Given the description of an element on the screen output the (x, y) to click on. 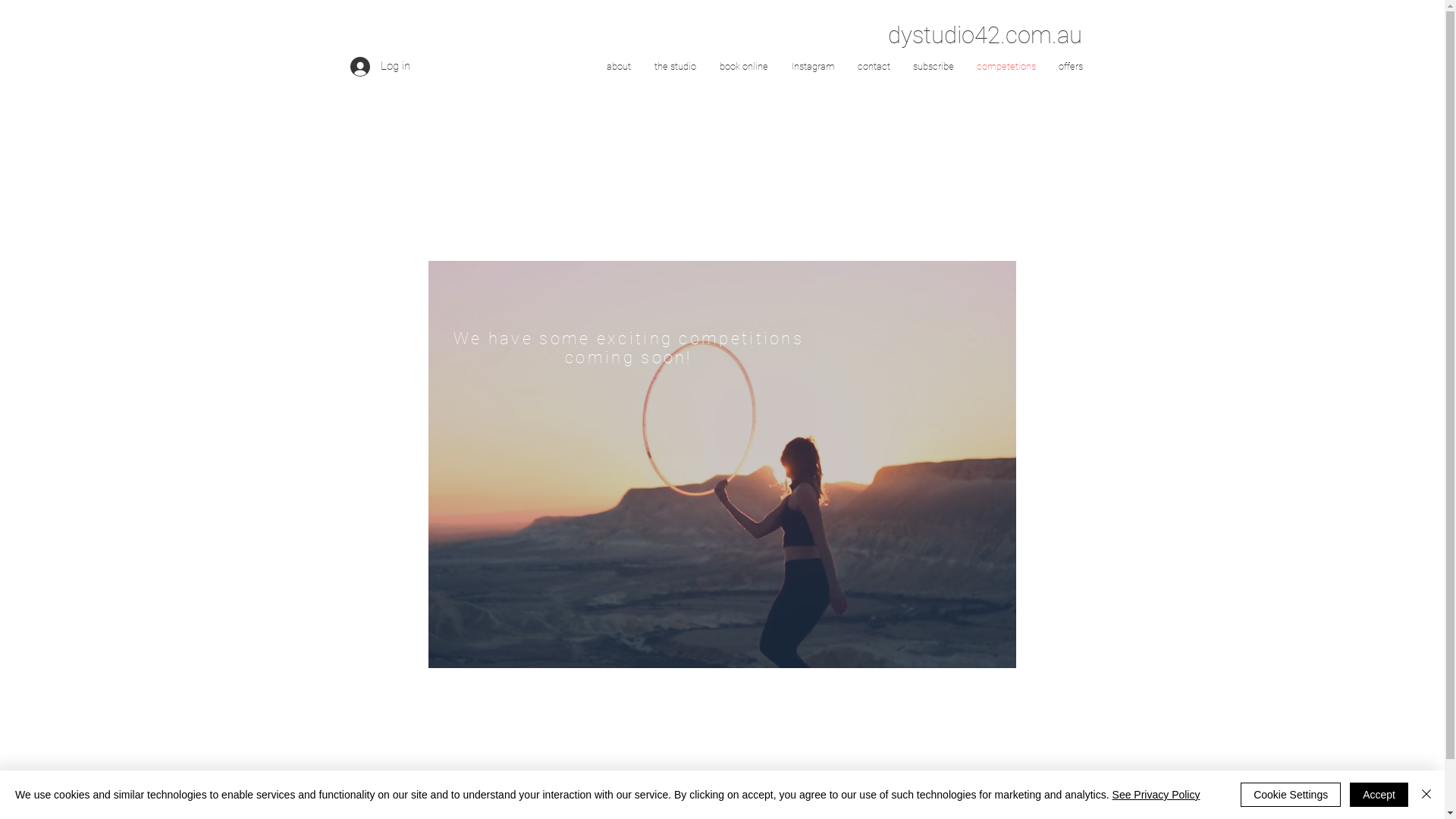
contact Element type: text (873, 66)
Accept Element type: text (1378, 794)
book online Element type: text (744, 66)
subscribe Element type: text (932, 66)
Log in Element type: text (379, 65)
the studio Element type: text (675, 66)
Privacy Policy Element type: text (721, 795)
Cookie Settings Element type: text (1290, 794)
competetions Element type: text (1005, 66)
Instagram Element type: text (812, 66)
offers Element type: text (1069, 66)
See Privacy Policy Element type: text (1156, 794)
about Element type: text (618, 66)
